Given the description of an element on the screen output the (x, y) to click on. 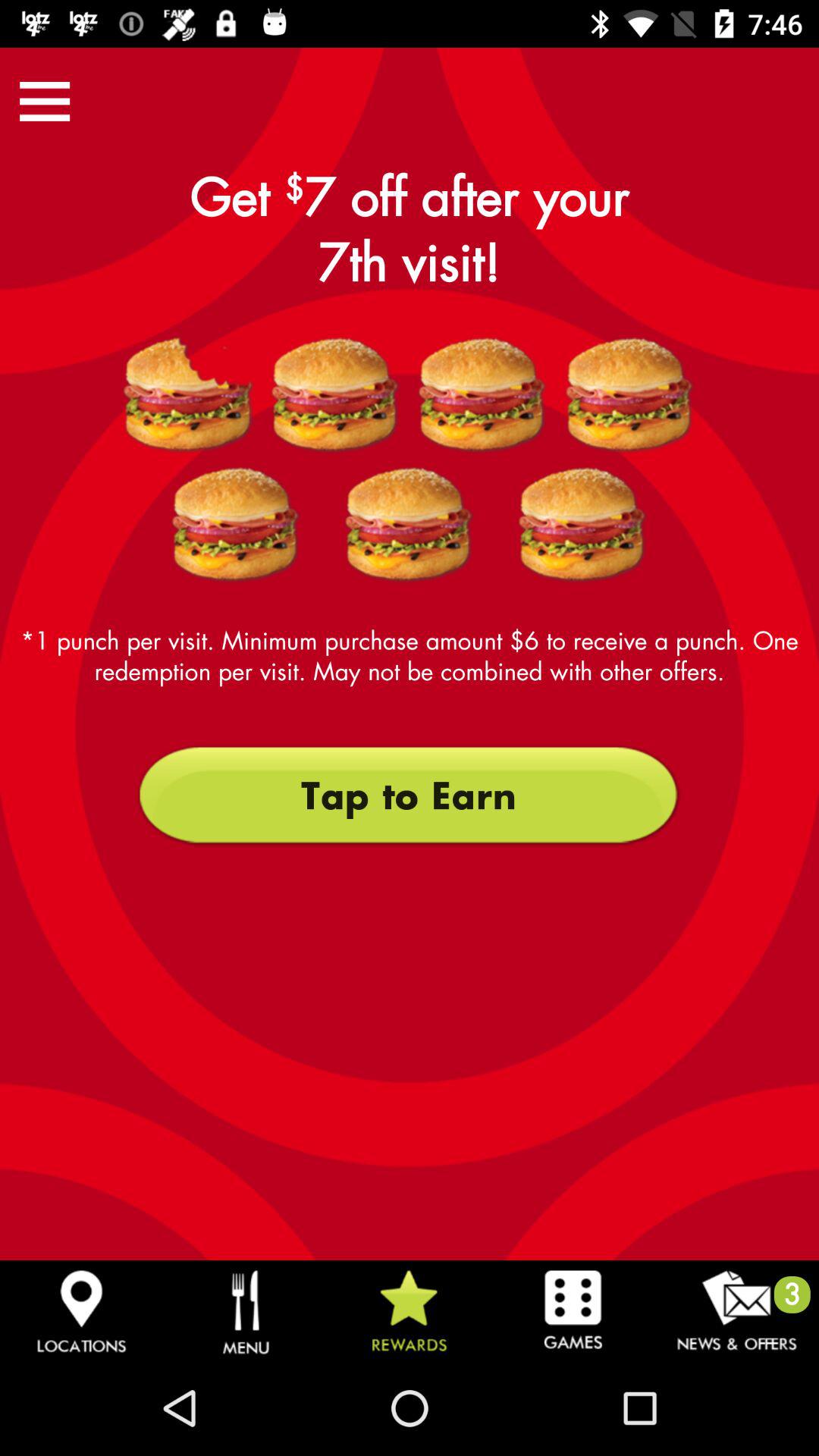
open tap to earn item (408, 795)
